Given the description of an element on the screen output the (x, y) to click on. 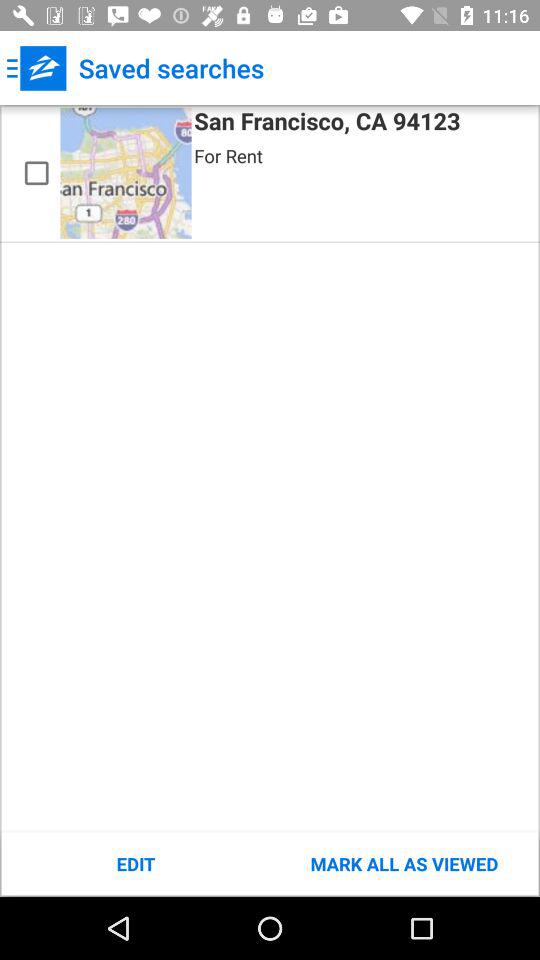
select the icon to the left of mark all as (135, 863)
